Given the description of an element on the screen output the (x, y) to click on. 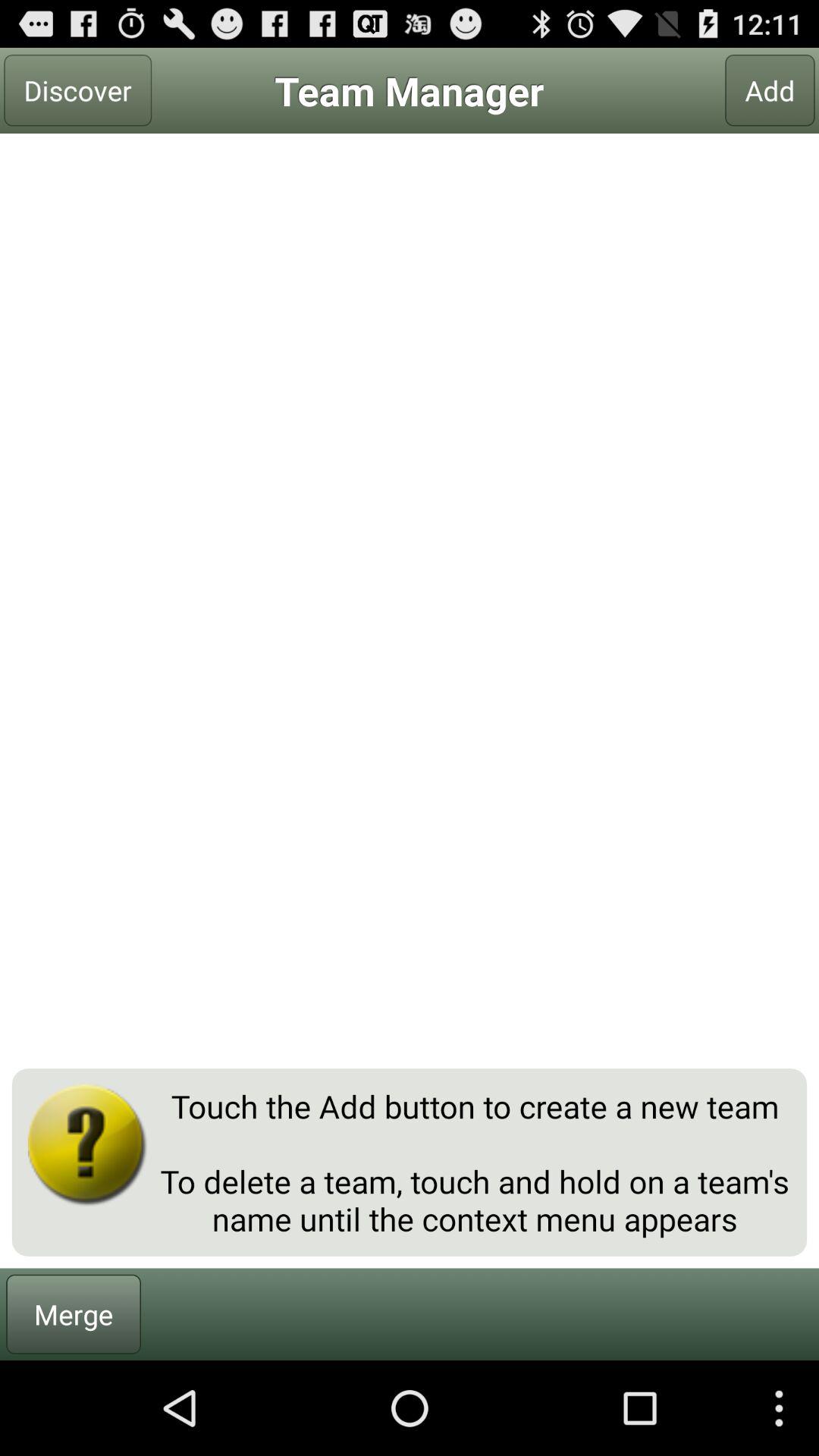
open merge icon (73, 1314)
